Given the description of an element on the screen output the (x, y) to click on. 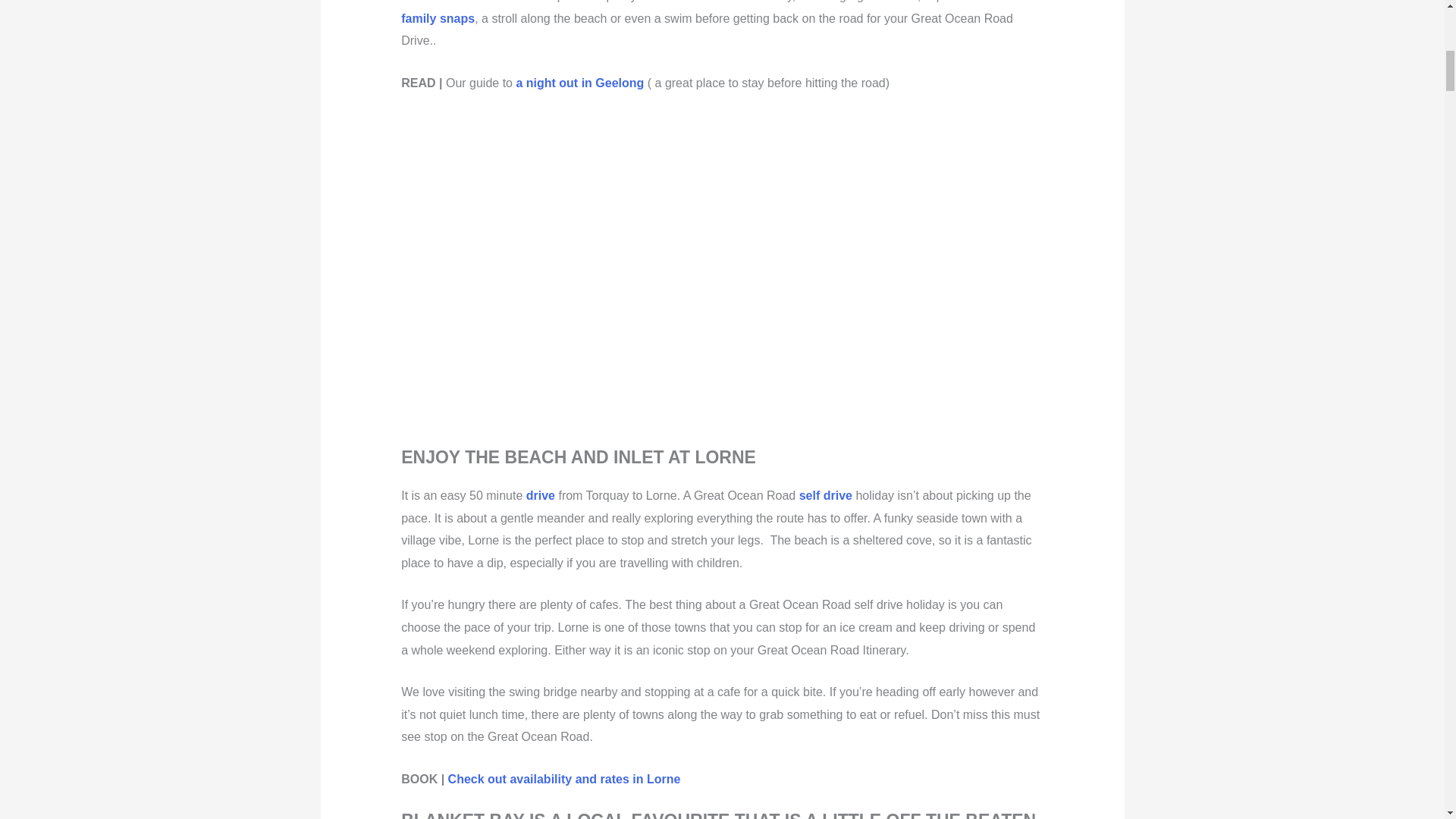
The Best Great Ocean Road Itinerary 3 (673, 273)
family snaps (437, 18)
self drive (825, 495)
drive (539, 495)
a night out in Geelong (579, 82)
Check out availability and rates in Lorne (564, 779)
